Given the description of an element on the screen output the (x, y) to click on. 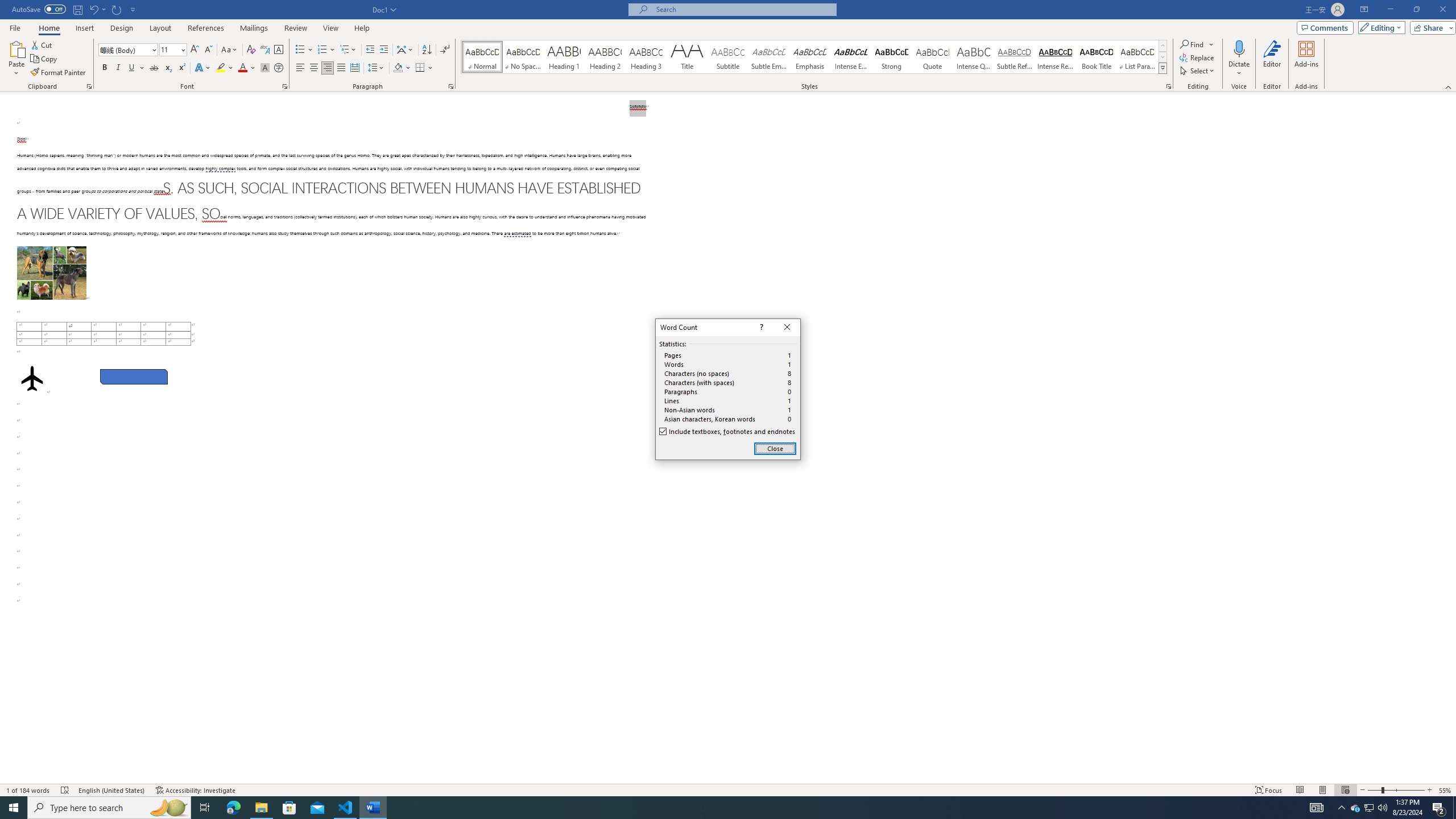
Strong (891, 56)
Intense Emphasis (849, 56)
Subtle Emphasis (768, 56)
Heading 3 (646, 56)
